Given the description of an element on the screen output the (x, y) to click on. 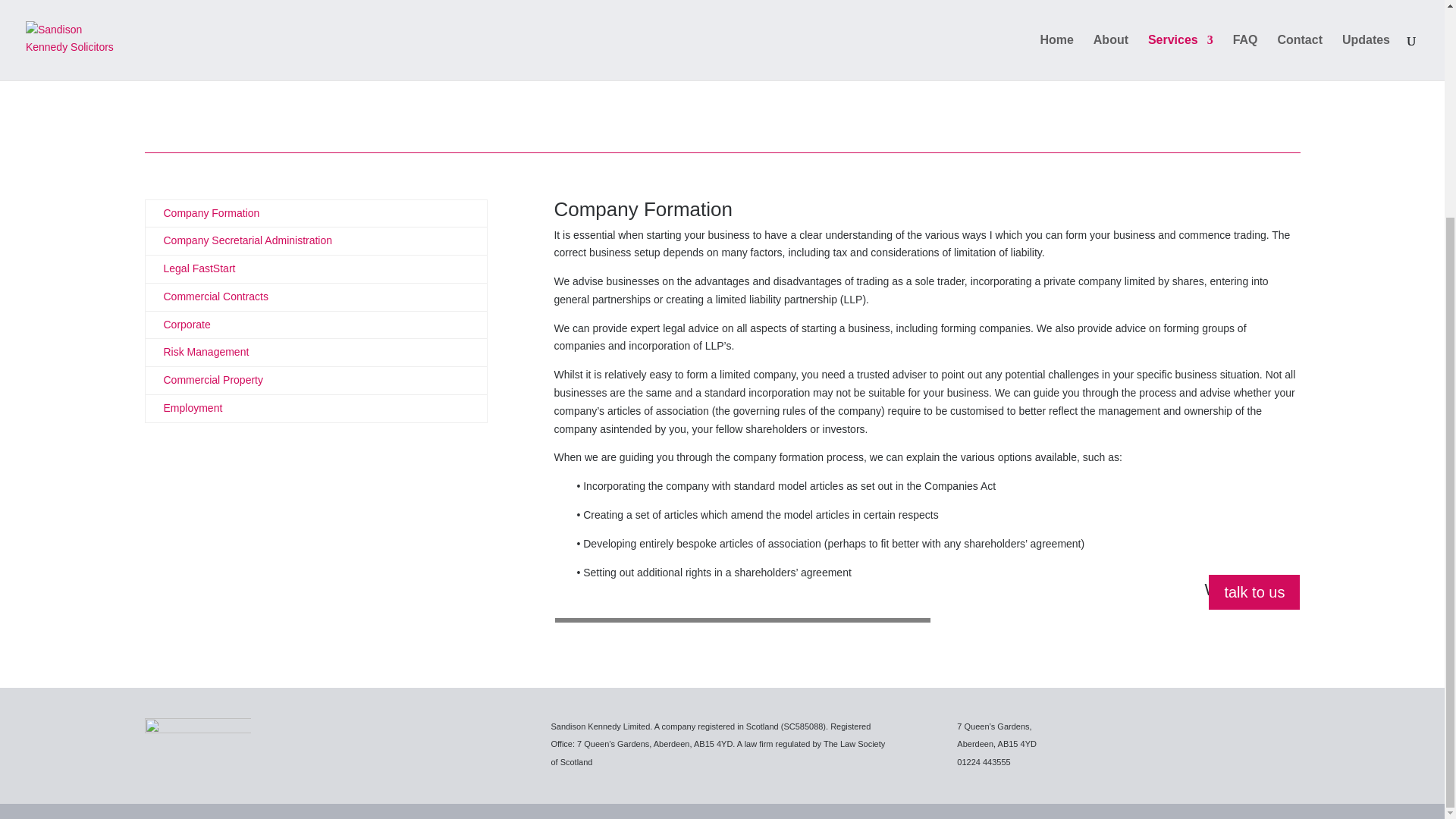
Commercial Property (213, 379)
Corporate (187, 324)
talk to us (1254, 591)
Legal FastStart (199, 268)
Commercial Contracts (215, 296)
Company Secretarial Administration (248, 240)
Company Formation (211, 213)
Employment (192, 408)
Risk Management (205, 351)
